Given the description of an element on the screen output the (x, y) to click on. 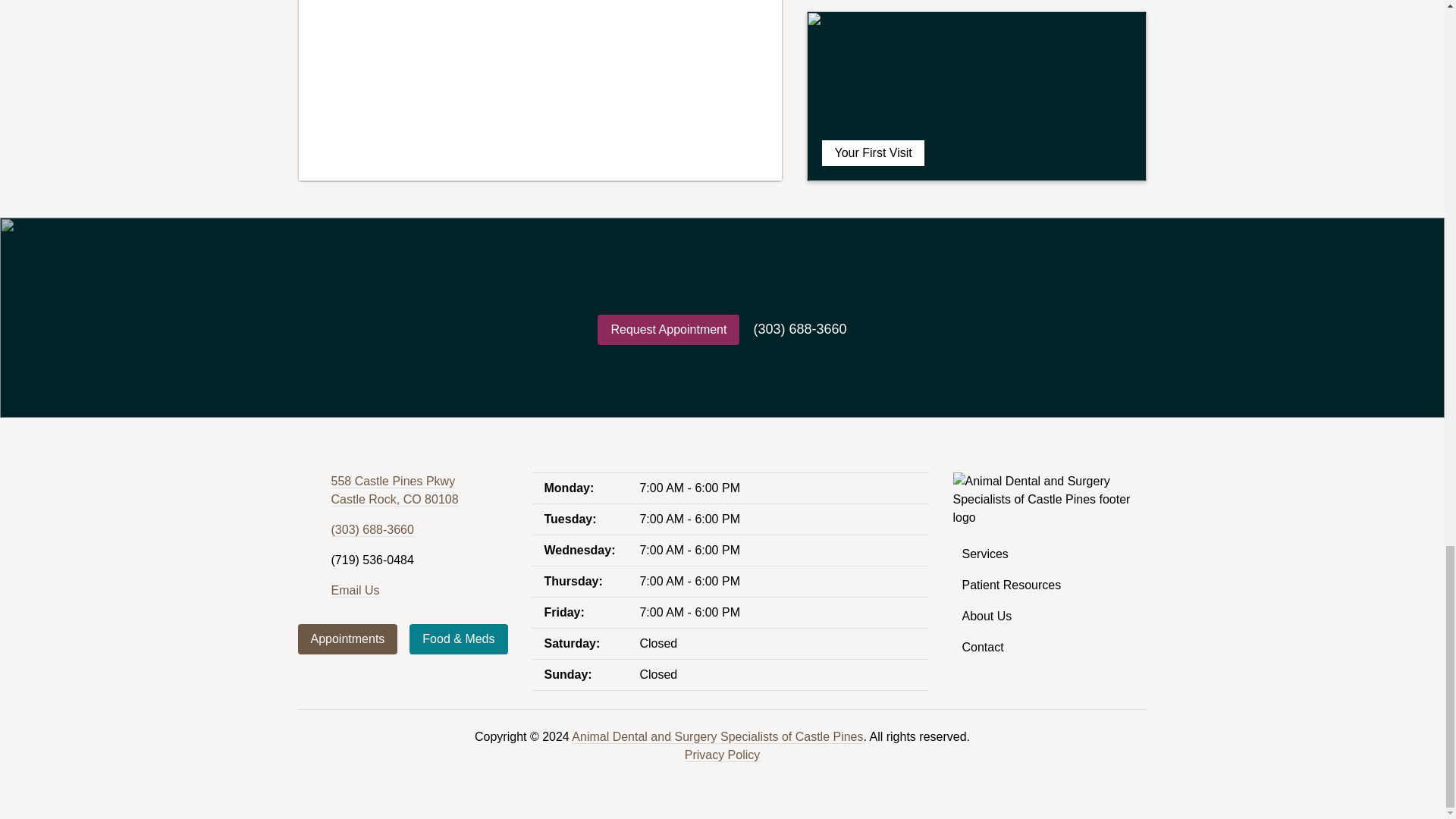
Your First Visit (976, 95)
Request Appointment (667, 329)
Appointments (347, 639)
Appointments (347, 639)
Call Us (394, 490)
Email Us (371, 530)
Email Us (354, 590)
Open this Address on Google Maps (354, 590)
